Given the description of an element on the screen output the (x, y) to click on. 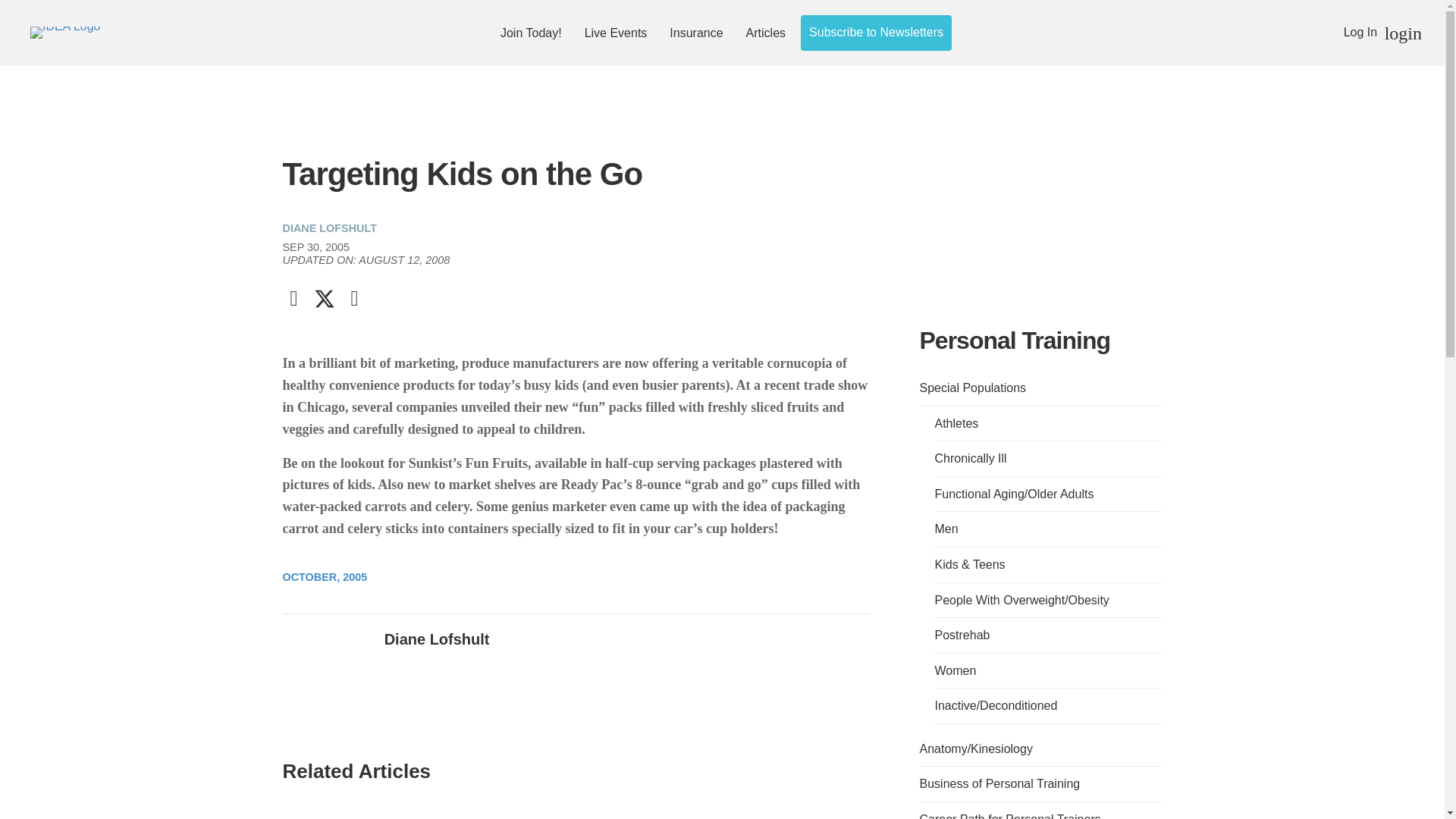
Diane Lofshult (327, 671)
Pinterest (353, 298)
Articles (765, 32)
Live Events (615, 32)
Diane Lofshult (436, 638)
Log In login (1382, 31)
Insurance (696, 32)
Subscribe to Newsletters (876, 32)
Join Today! (531, 32)
idea-logo (65, 32)
